Given the description of an element on the screen output the (x, y) to click on. 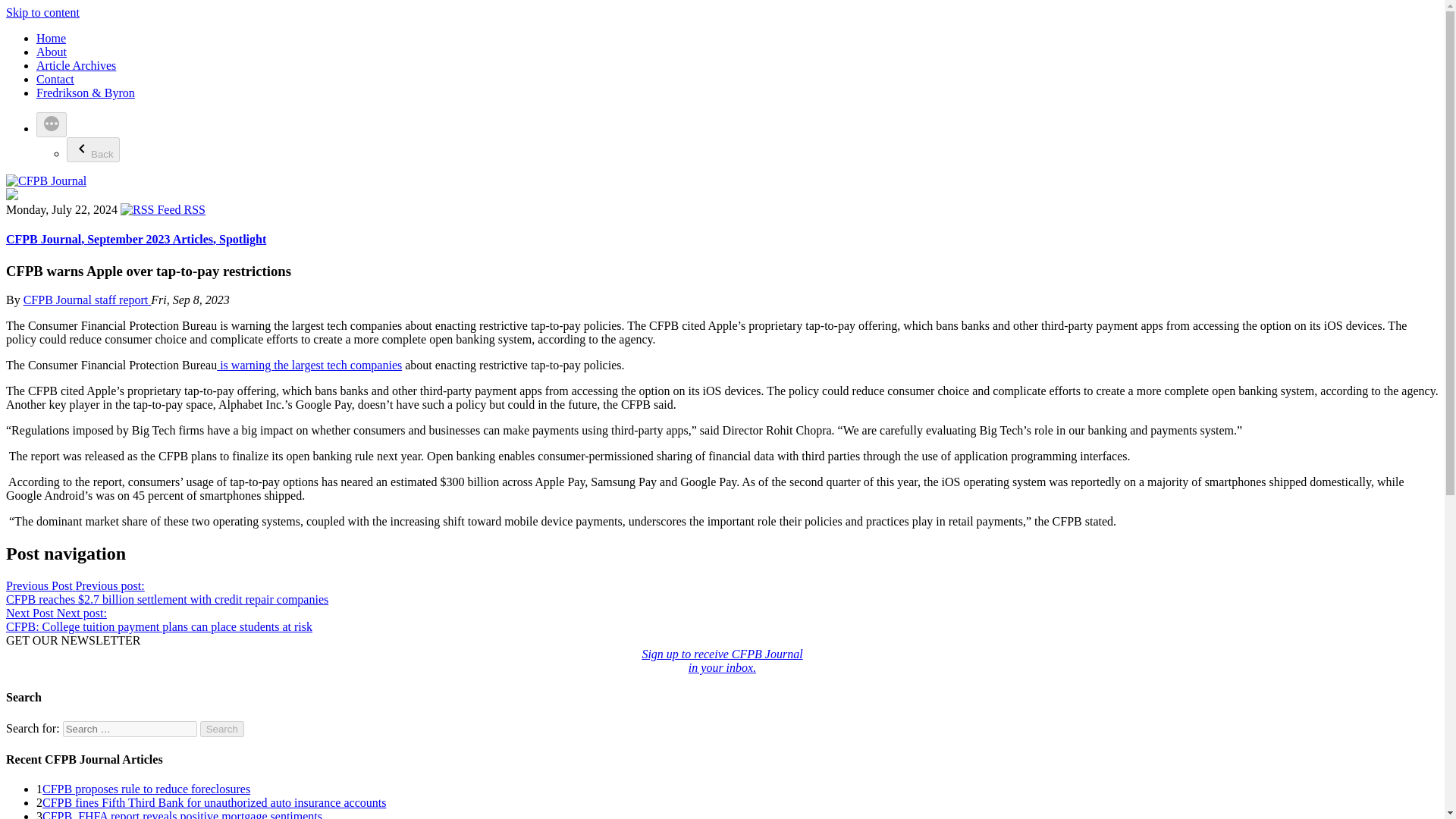
is warning the largest tech companies (722, 660)
Back (308, 364)
About (92, 149)
CFPB, FHFA report reveals positive mortgage sentiments (51, 51)
Contact (181, 814)
RSS (55, 78)
Home (162, 209)
, September 2023 Articles (50, 38)
, Spotlight (146, 238)
CFPB proposes rule to reduce foreclosures (239, 238)
CFPB Journal (146, 788)
Skip to content (43, 238)
RSS Feed (42, 11)
